Given the description of an element on the screen output the (x, y) to click on. 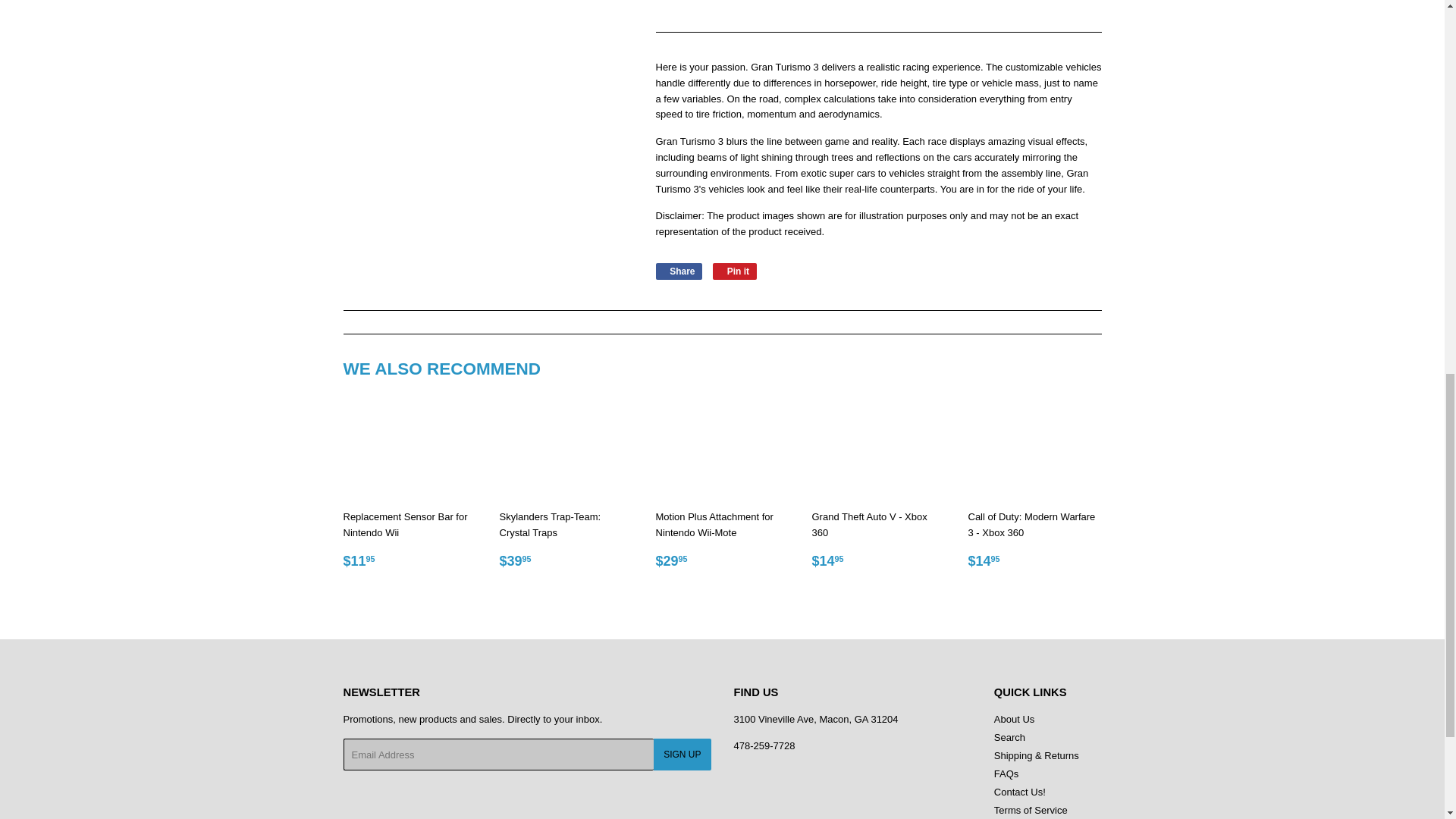
Share on Facebook (678, 271)
Pin on Pinterest (735, 271)
